Given the description of an element on the screen output the (x, y) to click on. 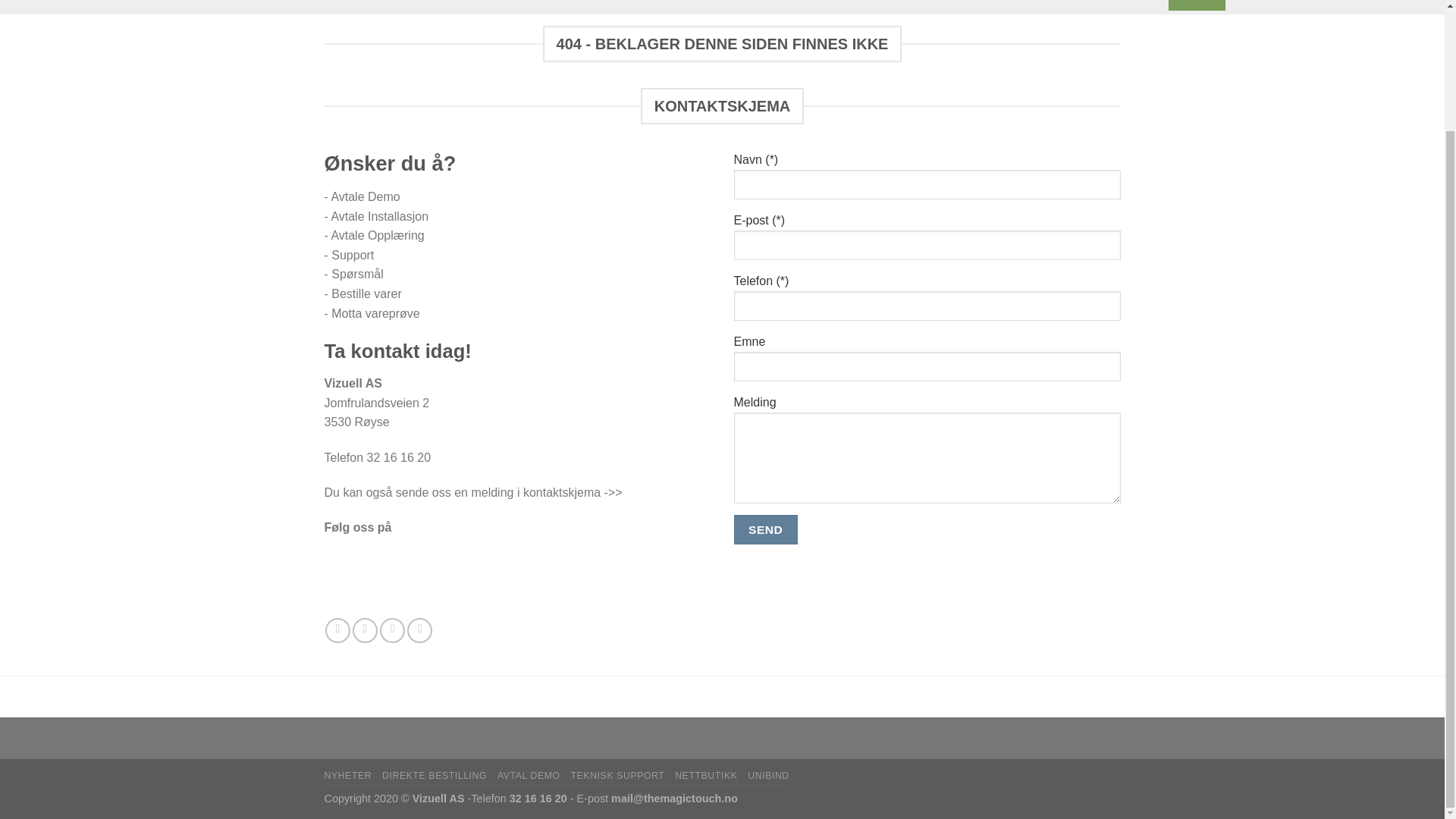
Send us an email (392, 630)
Follow on Twitter (364, 630)
Follow on Pinterest (419, 630)
Follow on Facebook (337, 630)
SUBLIMERING (258, 7)
Send (765, 529)
